Given the description of an element on the screen output the (x, y) to click on. 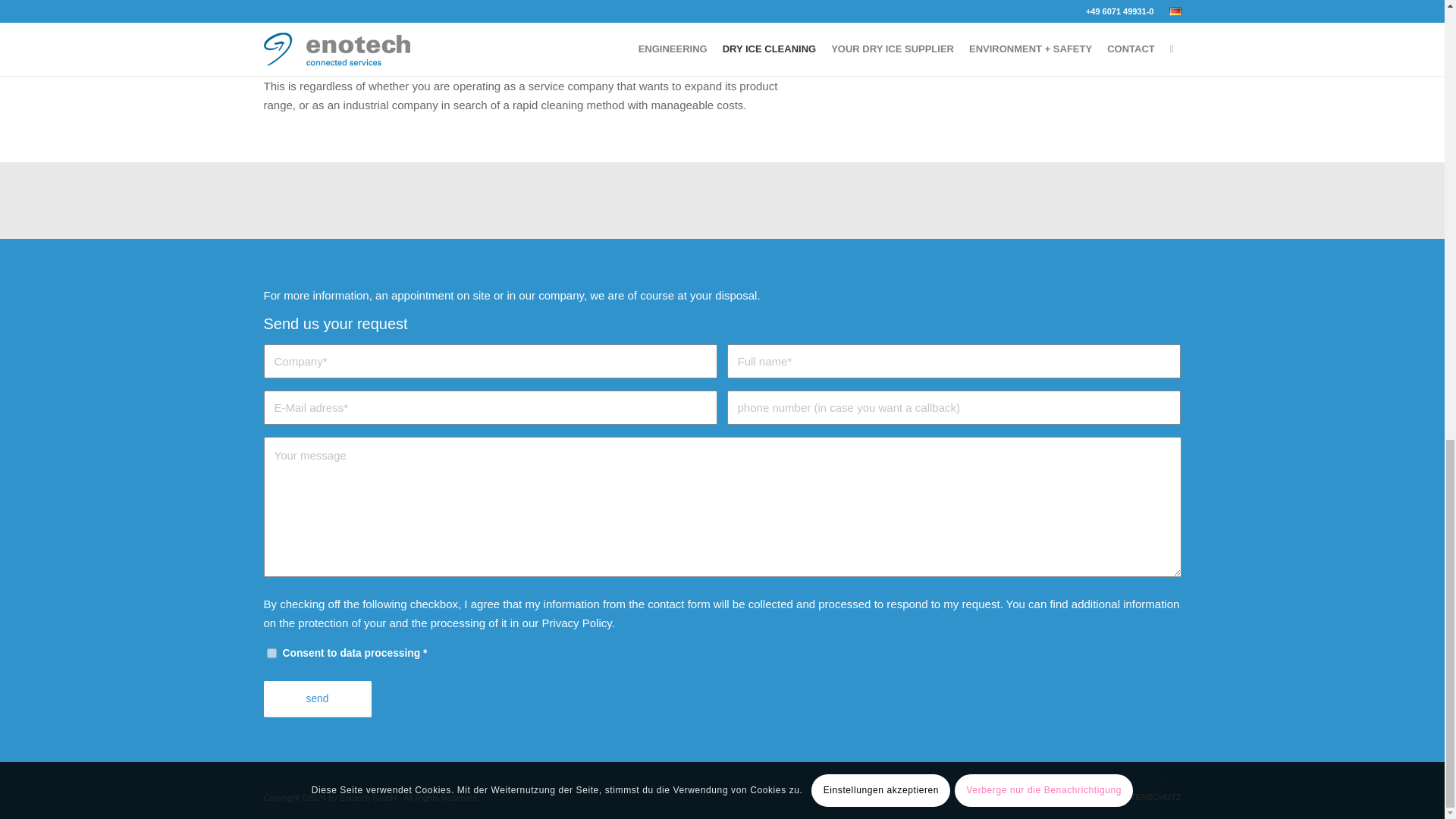
DATENSCHUTZ (1149, 796)
send (317, 698)
Privacy Policy (576, 622)
Enotech GmbH (367, 797)
send (317, 698)
true (271, 653)
DISCLAIMER (1077, 796)
IMPRESSUM (1011, 796)
